Given the description of an element on the screen output the (x, y) to click on. 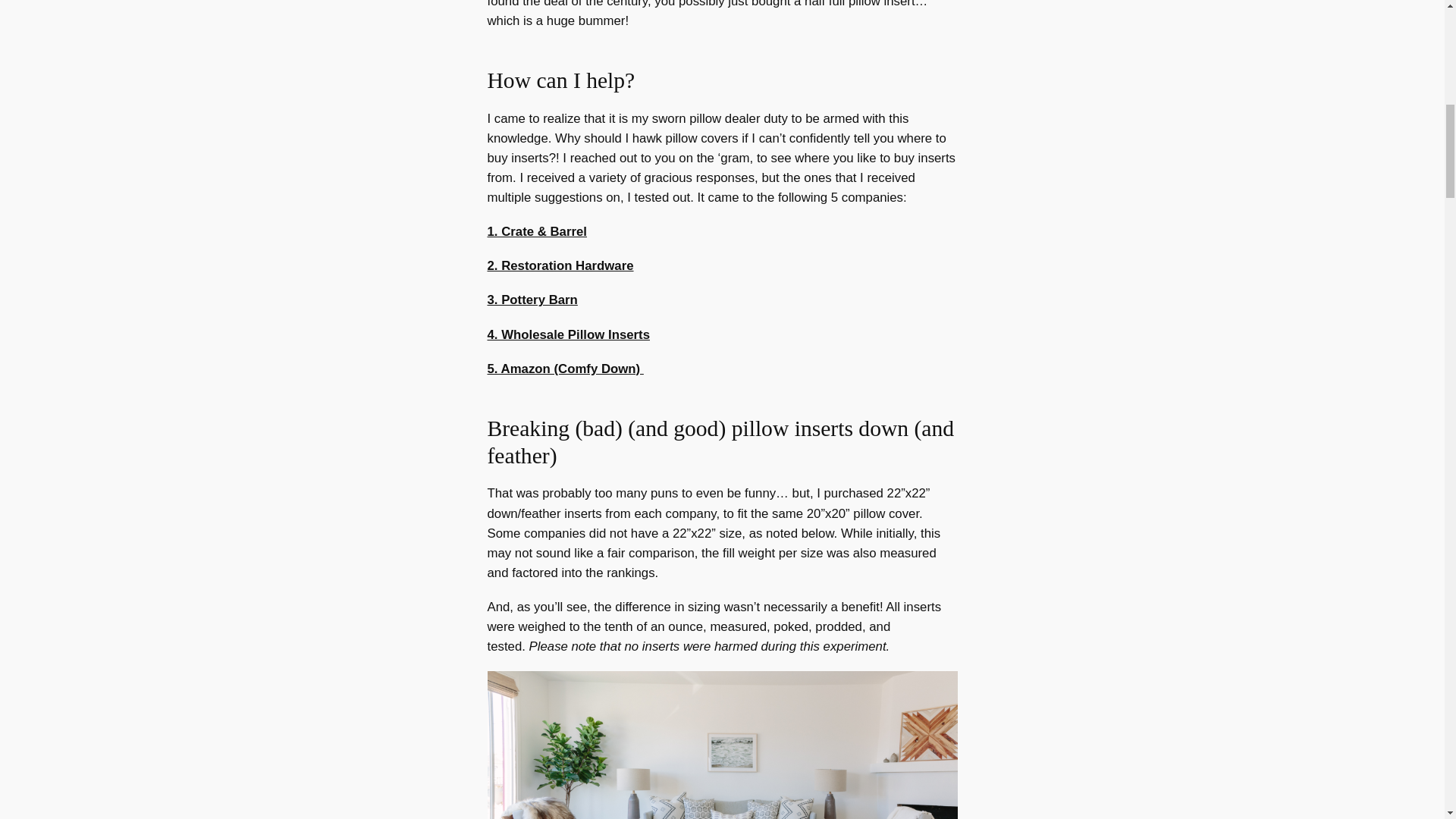
4. Wholesale Pillow Inserts (567, 334)
3. Pottery Barn (531, 299)
2. Restoration Hardware (559, 265)
